Given the description of an element on the screen output the (x, y) to click on. 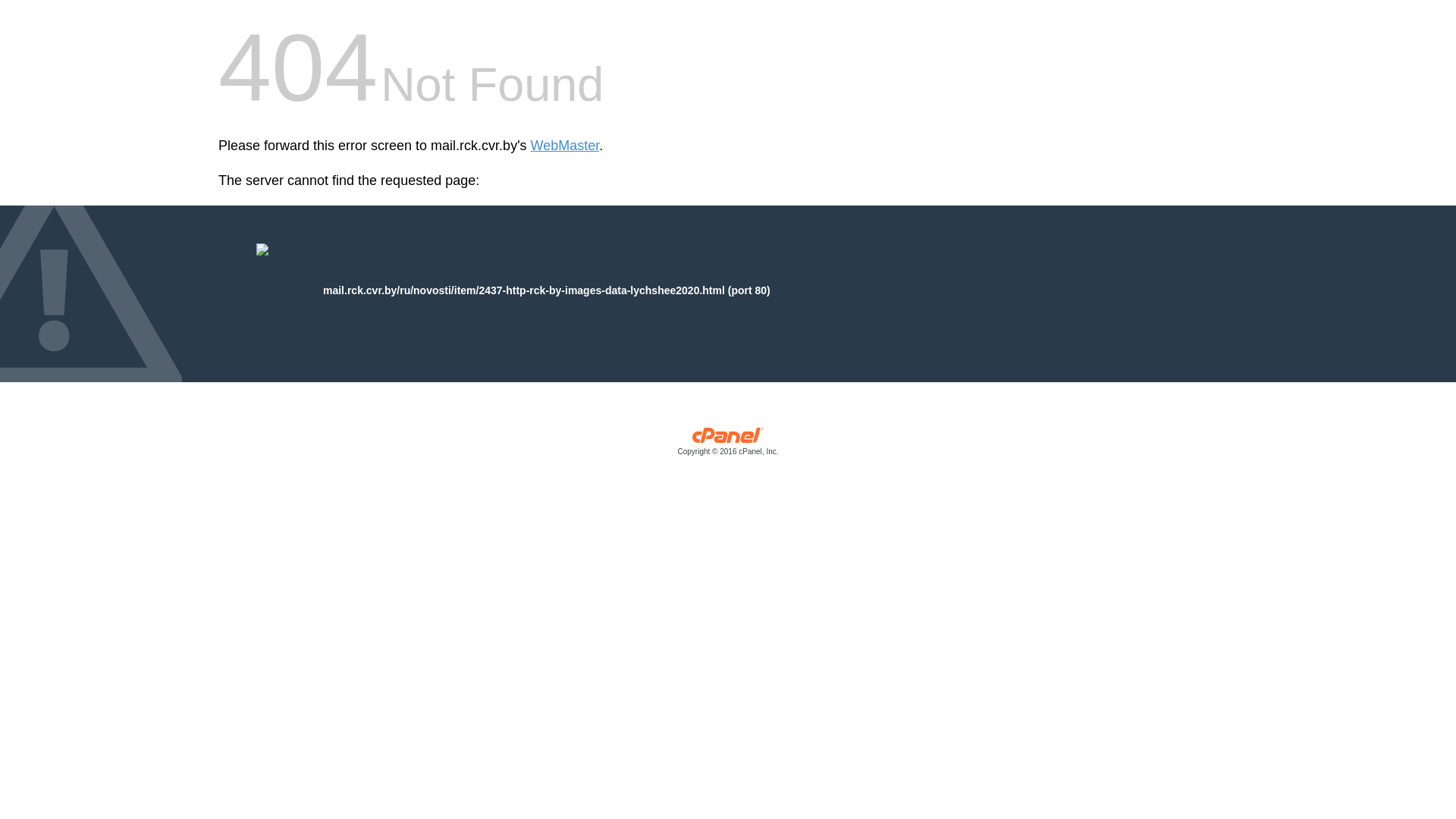
WebMaster Element type: text (564, 145)
